Given the description of an element on the screen output the (x, y) to click on. 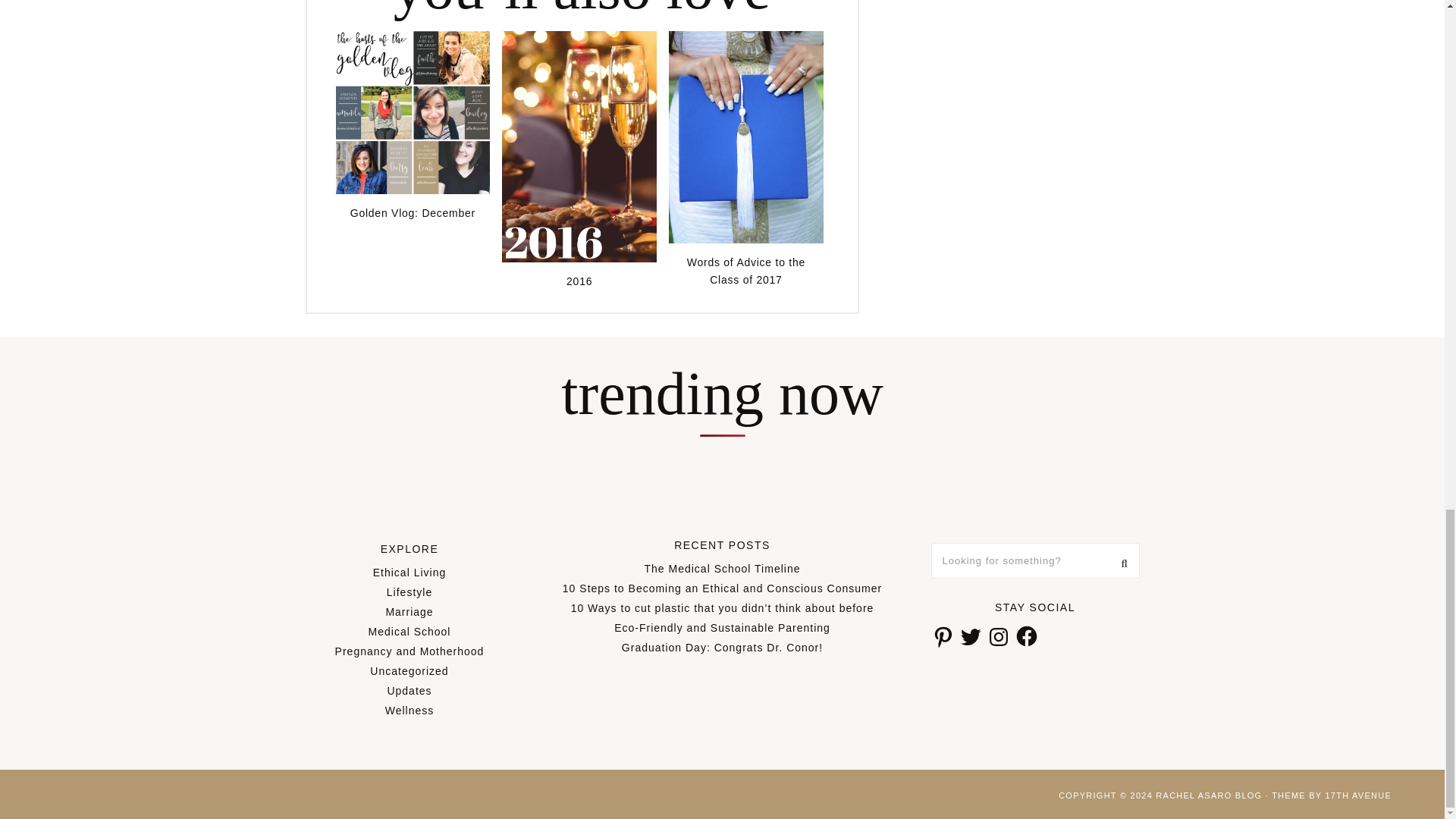
Ethical Living (409, 572)
Permanent Link to 2016 (579, 257)
Permanent Link to Words of Advice to the Class of 2017 (746, 269)
Permanent Link to Words of Advice to the Class of 2017 (746, 238)
2016 (579, 279)
Permanent Link to Golden Vlog: December (411, 210)
Permanent Link to Golden Vlog: December (411, 189)
Permanent Link to 2016 (579, 279)
Lifestyle (409, 592)
Words of Advice to the Class of 2017 (746, 269)
Golden Vlog: December (411, 210)
